Given the description of an element on the screen output the (x, y) to click on. 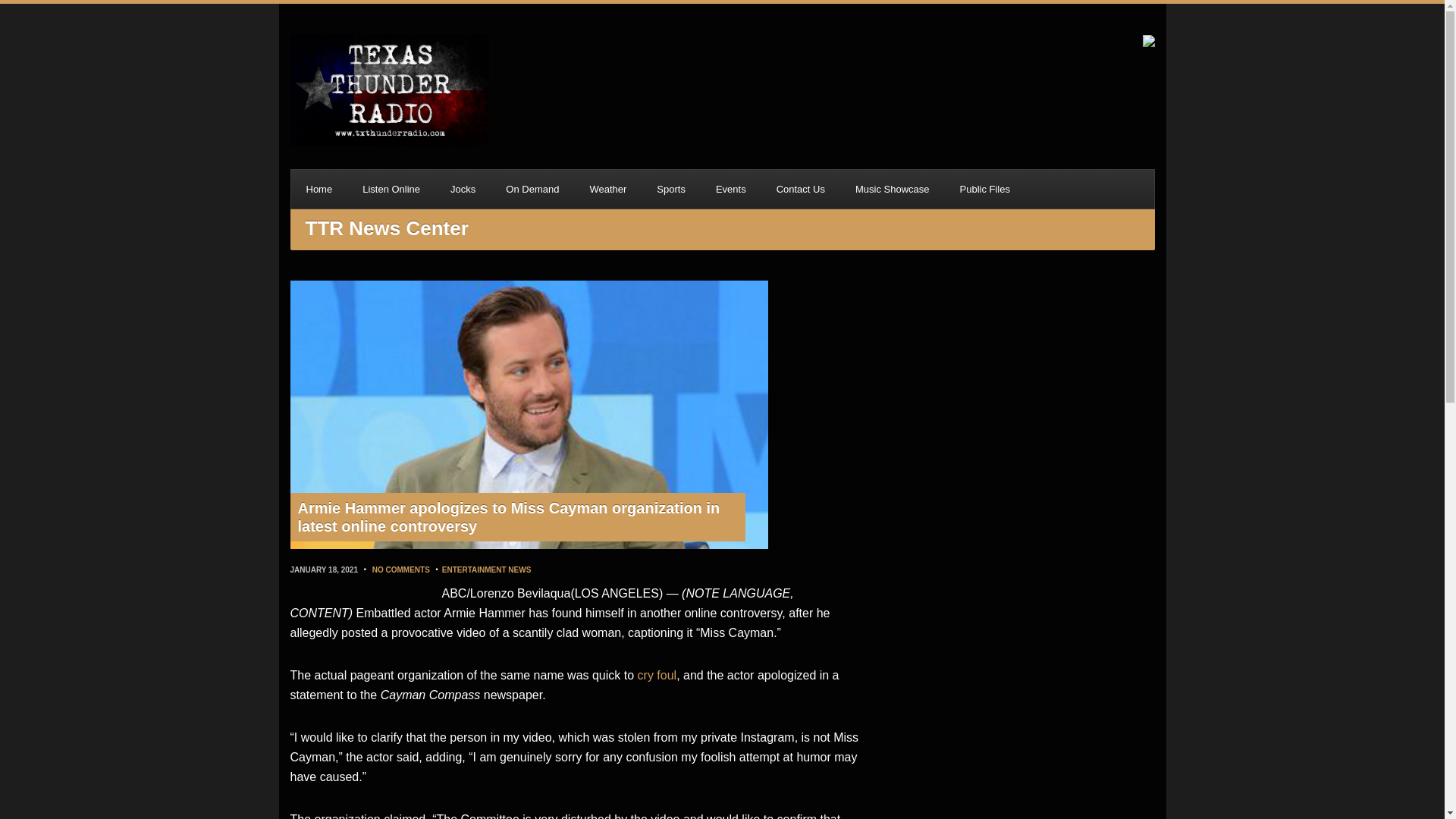
Events (730, 188)
Home (319, 188)
Music Showcase (892, 188)
Sports (671, 188)
ENTERTAINMENT NEWS (486, 569)
Jocks (462, 188)
Weather (607, 188)
Public Files (984, 188)
On Demand (531, 188)
NO COMMENTS (400, 569)
